Given the description of an element on the screen output the (x, y) to click on. 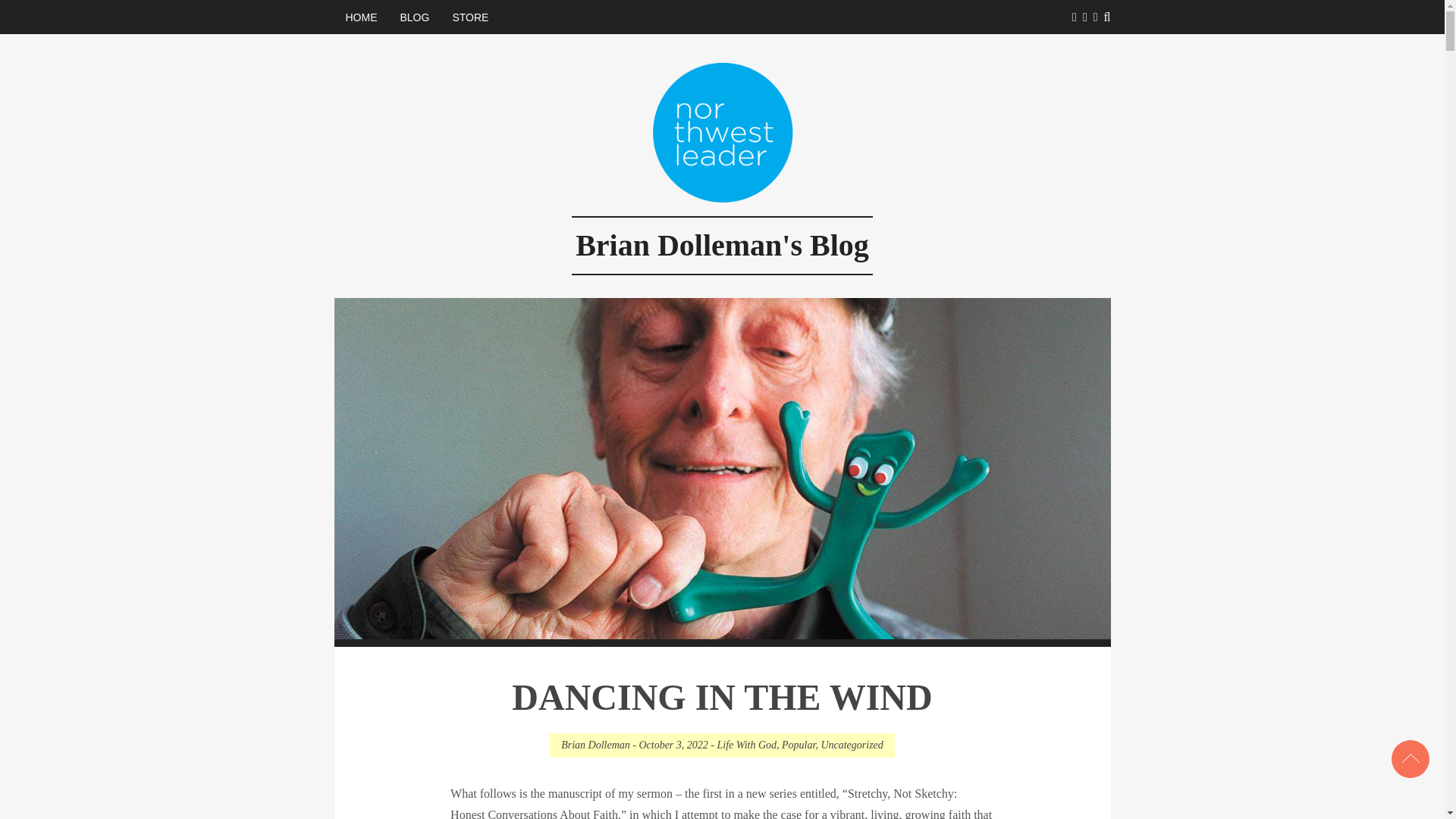
Posts by Brian Dolleman (595, 745)
View all posts in Life With God (746, 745)
STORE (470, 17)
HOME (360, 17)
View all posts in Popular (798, 745)
BLOG (414, 17)
Popular (798, 745)
View all posts in Uncategorized (851, 745)
Uncategorized (851, 745)
